Given the description of an element on the screen output the (x, y) to click on. 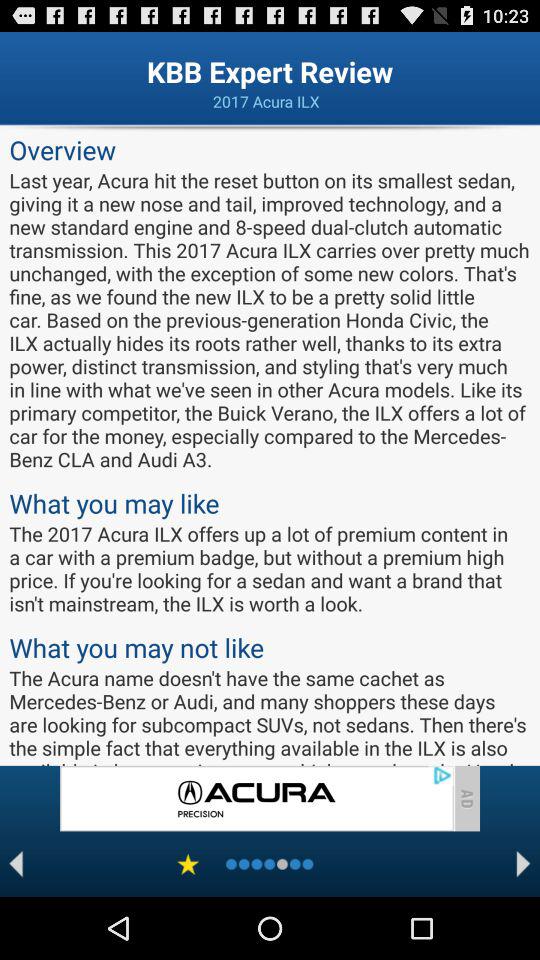
add to favorites (188, 864)
